Given the description of an element on the screen output the (x, y) to click on. 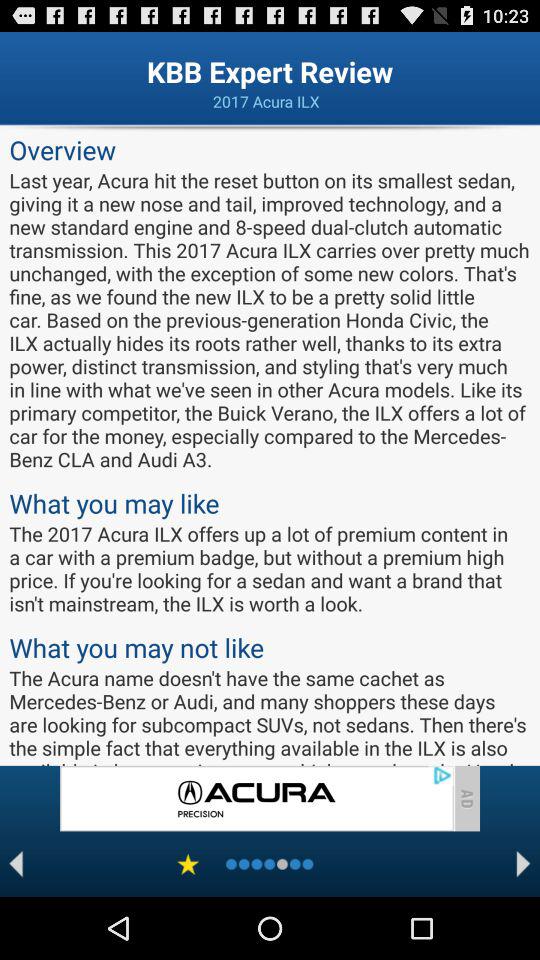
add to favorites (188, 864)
